Given the description of an element on the screen output the (x, y) to click on. 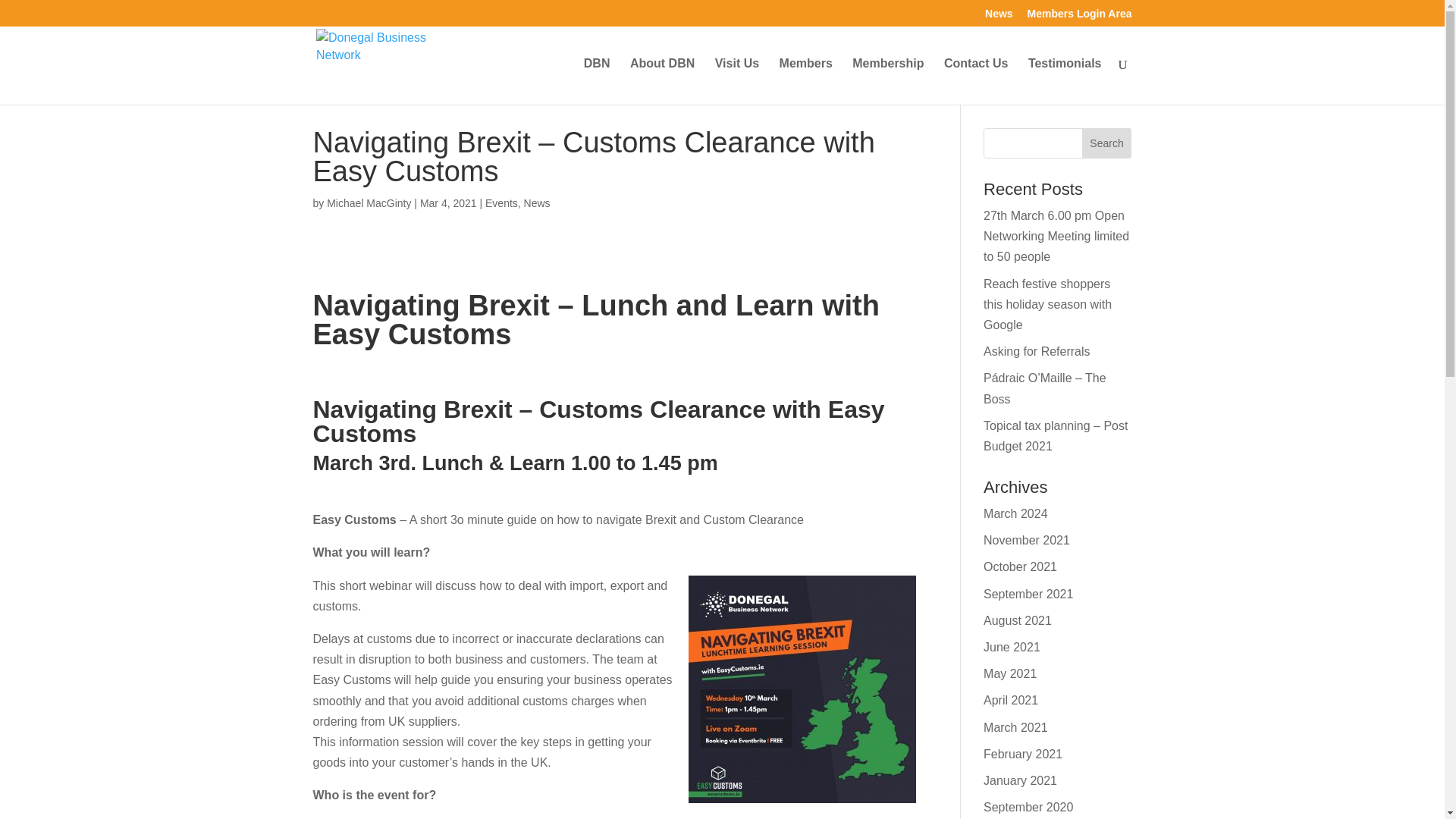
May 2021 (1010, 673)
Visit Us (736, 81)
Search (1106, 142)
News (537, 203)
Testimonials (1064, 81)
February 2021 (1023, 753)
March 2024 (1016, 513)
January 2021 (1020, 780)
June 2021 (1012, 646)
News (999, 16)
